Given the description of an element on the screen output the (x, y) to click on. 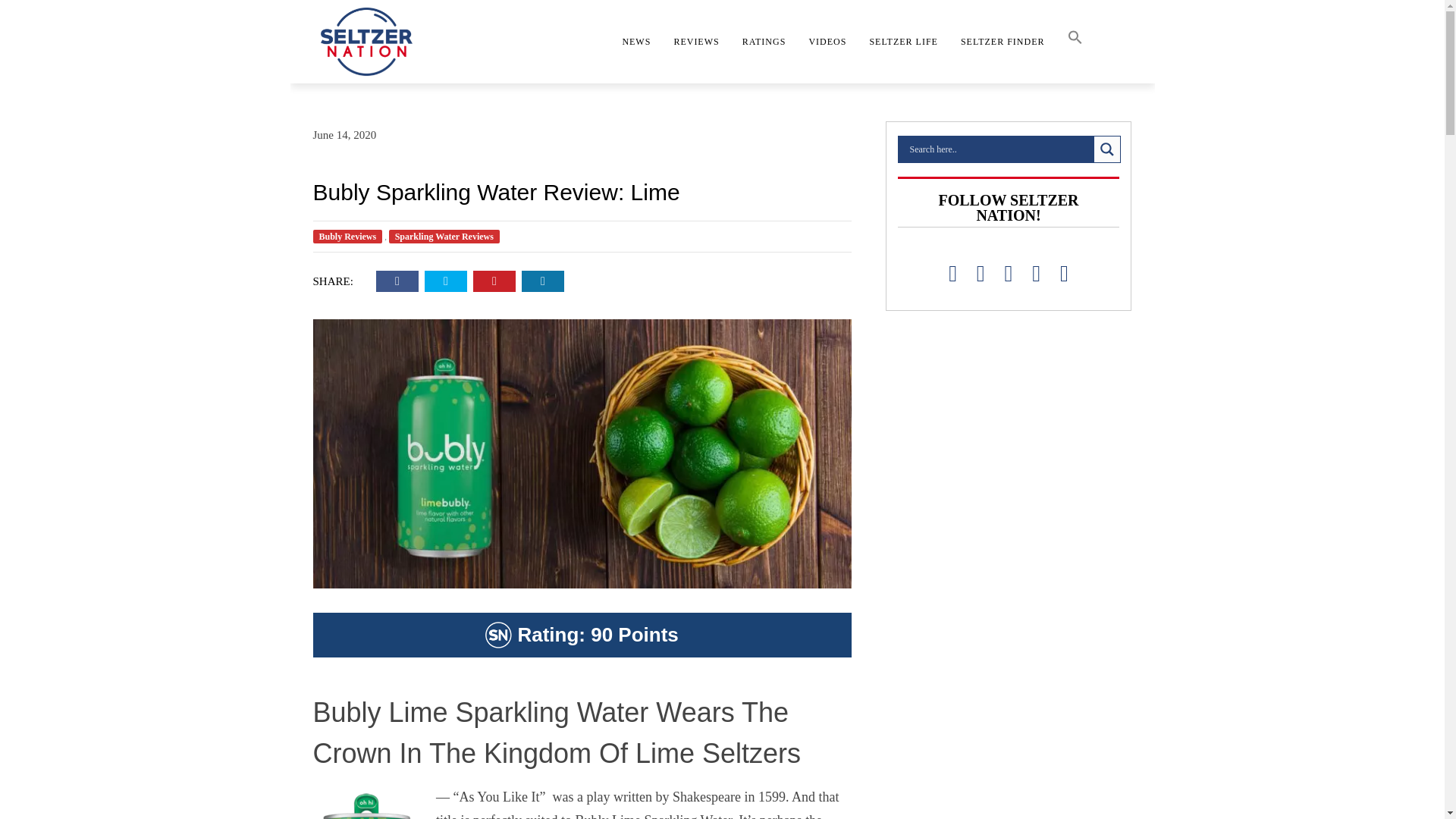
Bubly Lime Sparkling Water (366, 805)
REVIEWS (696, 41)
NEWS (636, 41)
